Given the description of an element on the screen output the (x, y) to click on. 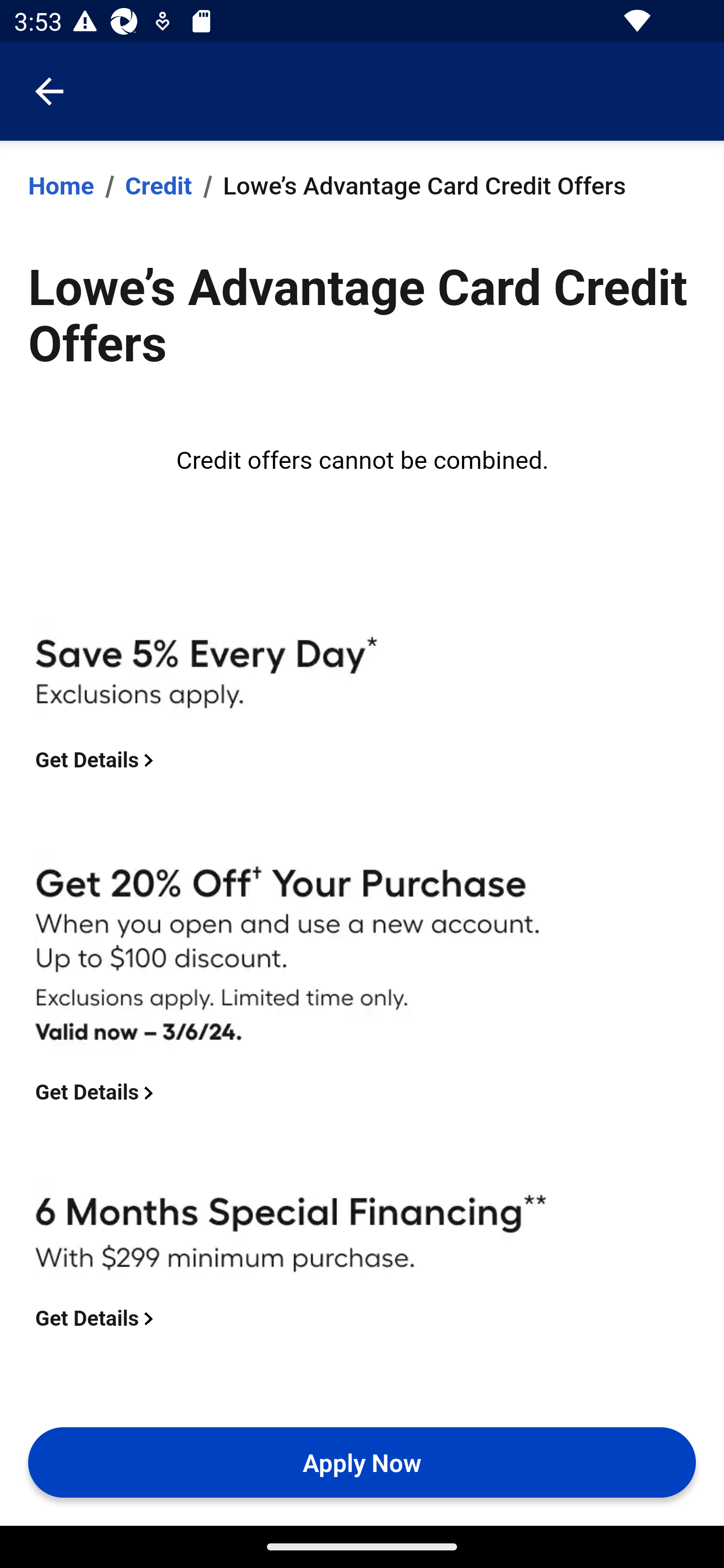
Navigate up (49, 91)
Home (61, 186)
Credit (158, 186)
Lowe’s Advantage Card Credit Offers (423, 186)
Credit offers cannot be combined.
 (363, 461)
Get Details (97, 760)
Get Details (97, 1092)
Get Details (97, 1317)
Apply Now (361, 1462)
